Given the description of an element on the screen output the (x, y) to click on. 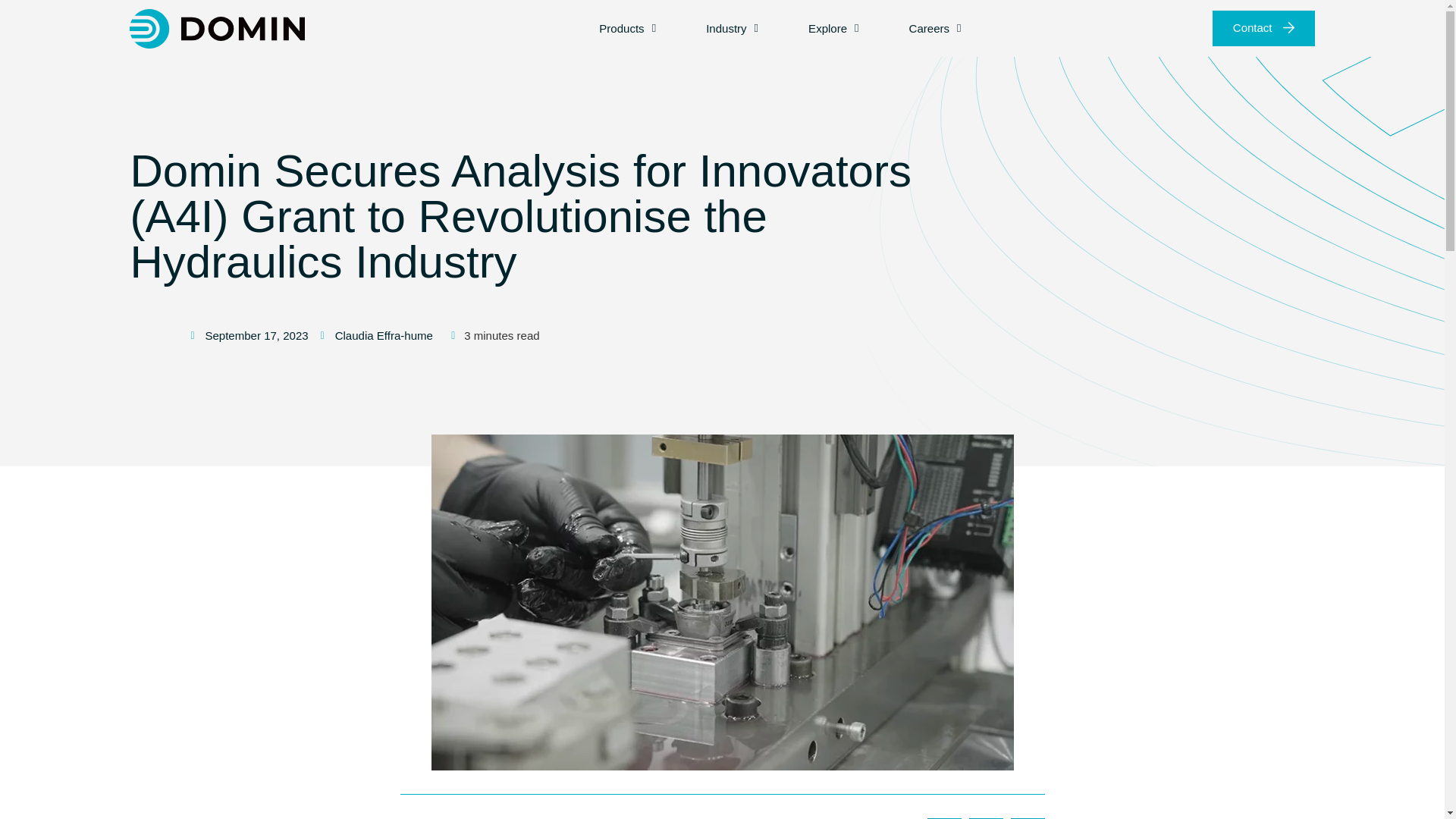
Explore (833, 27)
Careers (935, 27)
Industry (732, 27)
Products (627, 27)
